Given the description of an element on the screen output the (x, y) to click on. 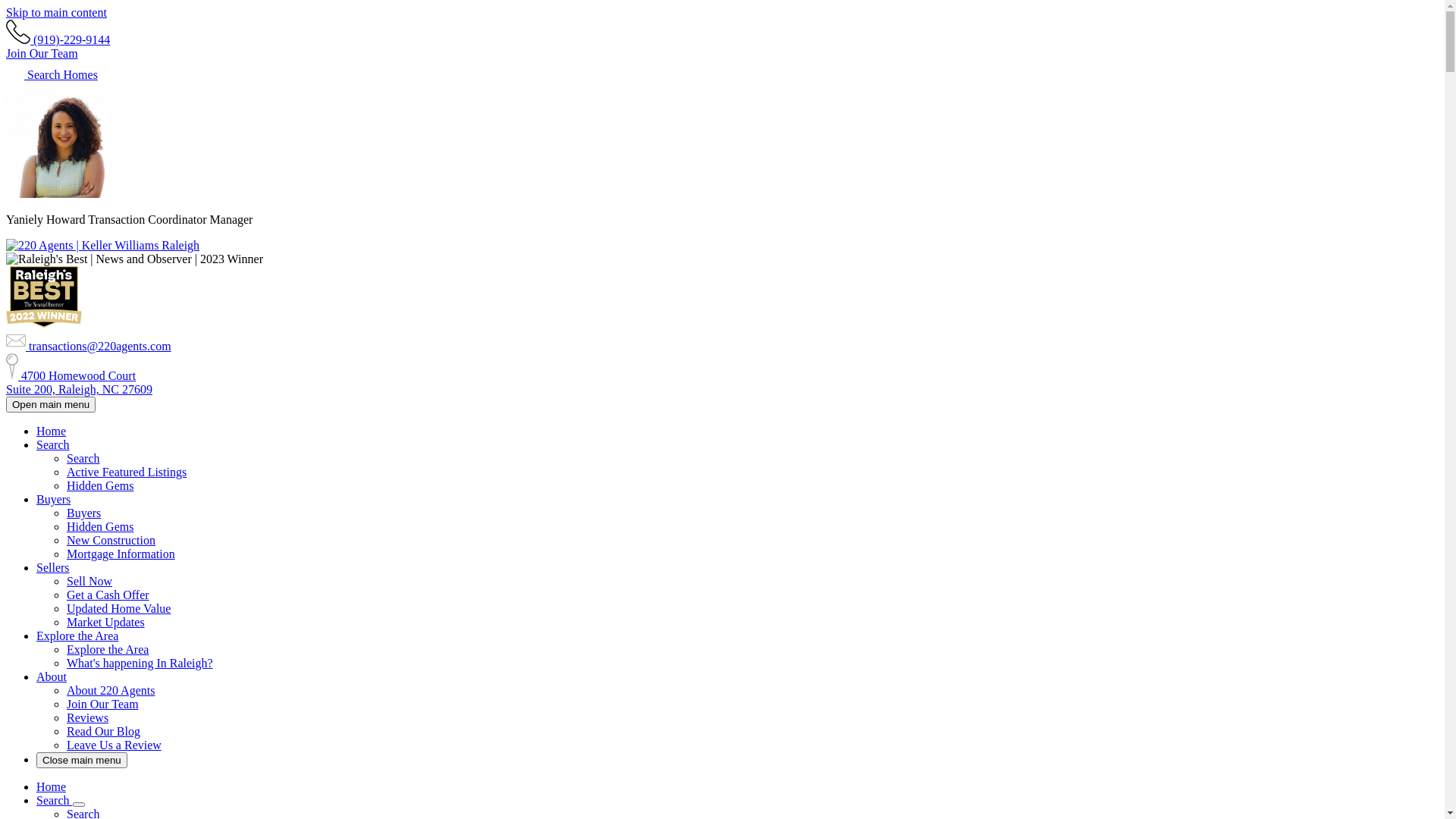
Buyers Element type: text (83, 512)
Skip to main content Element type: text (56, 12)
transactions@220agents.com Element type: text (88, 345)
Read Our Blog Element type: text (103, 730)
Sellers Element type: text (52, 567)
Join Our Team Element type: text (42, 53)
Sell Now Element type: text (89, 580)
Active Featured Listings Element type: text (126, 471)
Mortgage Information Element type: text (120, 553)
Buyers Element type: text (53, 498)
Join Our Team Element type: text (102, 703)
Home Element type: text (50, 786)
4700 Homewood Court
Suite 200, Raleigh, NC 27609 Element type: text (79, 382)
Reviews Element type: text (87, 717)
What's happening In Raleigh? Element type: text (139, 662)
About 220 Agents Element type: text (110, 690)
Explore the Area Element type: text (77, 635)
Leave Us a Review Element type: text (113, 744)
Market Updates Element type: text (105, 621)
Search Element type: text (52, 444)
Get a Cash Offer Element type: text (107, 594)
Home Element type: text (50, 430)
Hidden Gems Element type: text (99, 485)
Search Homes Element type: text (51, 74)
Hidden Gems Element type: text (99, 526)
Close main menu Element type: text (81, 760)
About Element type: text (51, 676)
(919)-229-9144 Element type: text (57, 39)
New Construction Element type: text (110, 539)
Search Element type: text (83, 457)
Open main menu Element type: text (50, 404)
Explore the Area Element type: text (107, 649)
Updated Home Value Element type: text (118, 608)
Search Element type: text (54, 799)
